Given the description of an element on the screen output the (x, y) to click on. 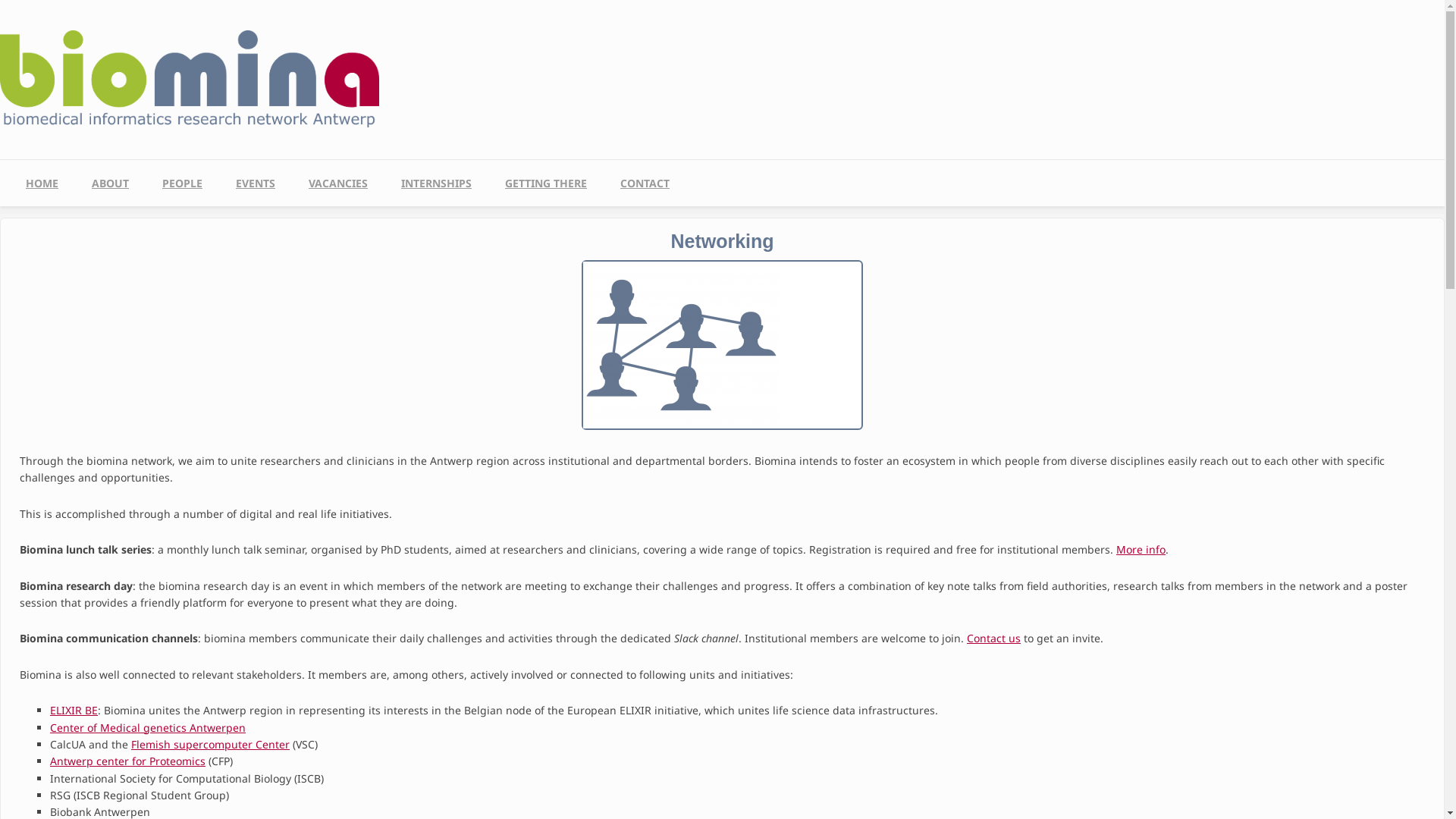
ABOUT Element type: text (110, 183)
Center of Medical genetics Antwerpen Element type: text (147, 727)
Antwerp center for Proteomics Element type: text (127, 760)
More info Element type: text (1140, 549)
INTERNSHIPS Element type: text (435, 183)
GETTING THERE Element type: text (545, 183)
Home Element type: hover (189, 68)
PEOPLE Element type: text (182, 183)
Skip to main content Element type: text (0, 0)
Flemish supercomputer Center Element type: text (210, 744)
EVENTS Element type: text (255, 183)
HOME Element type: text (41, 183)
VACANCIES Element type: text (337, 183)
Contact us Element type: text (993, 637)
CONTACT Element type: text (644, 183)
ELIXIR BE Element type: text (73, 709)
